Given the description of an element on the screen output the (x, y) to click on. 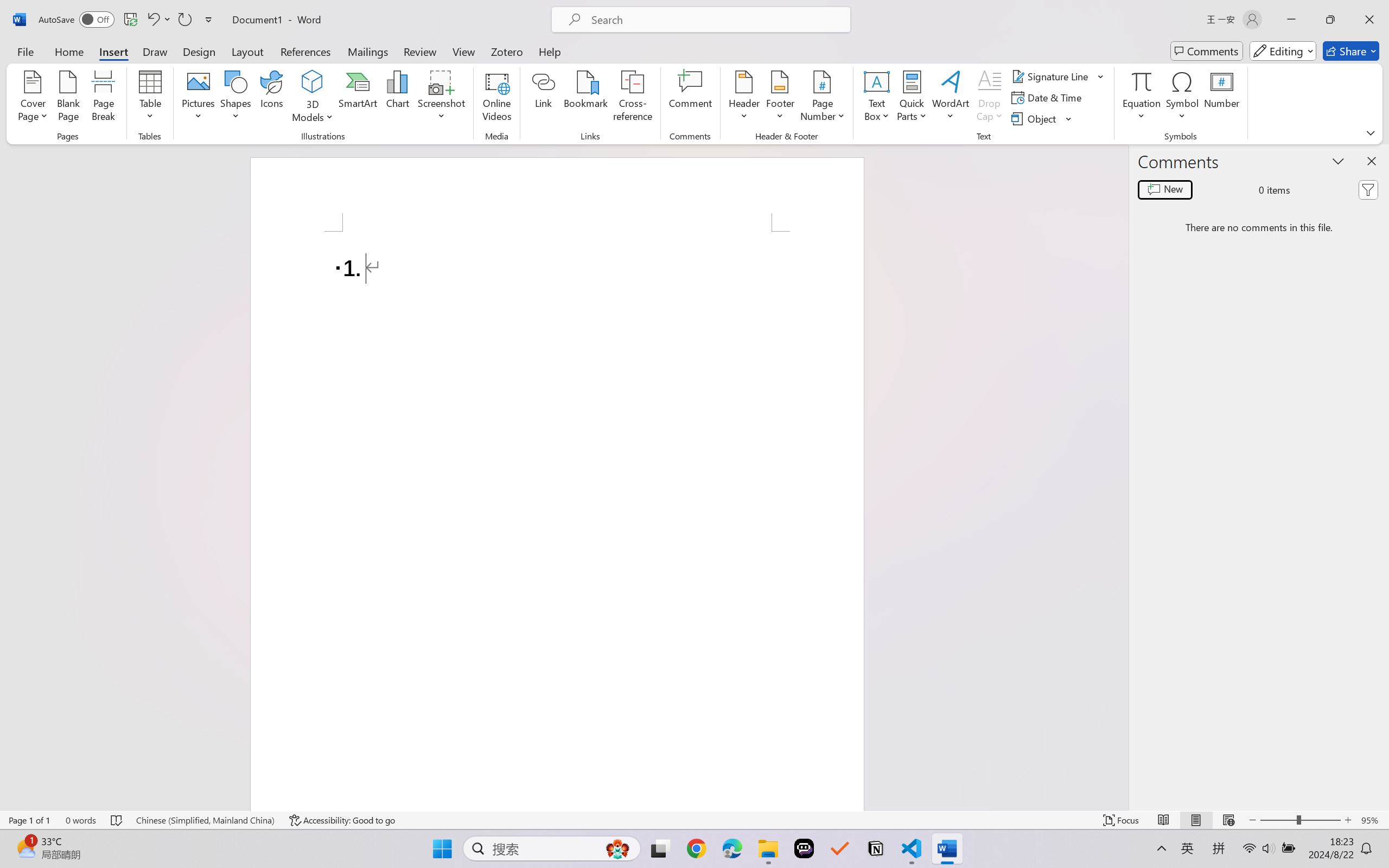
Signature Line (1058, 75)
Header (743, 97)
Screenshot (441, 97)
Object... (1042, 118)
Online Videos... (496, 97)
Quick Parts (912, 97)
Link (543, 97)
Shapes (235, 97)
